Given the description of an element on the screen output the (x, y) to click on. 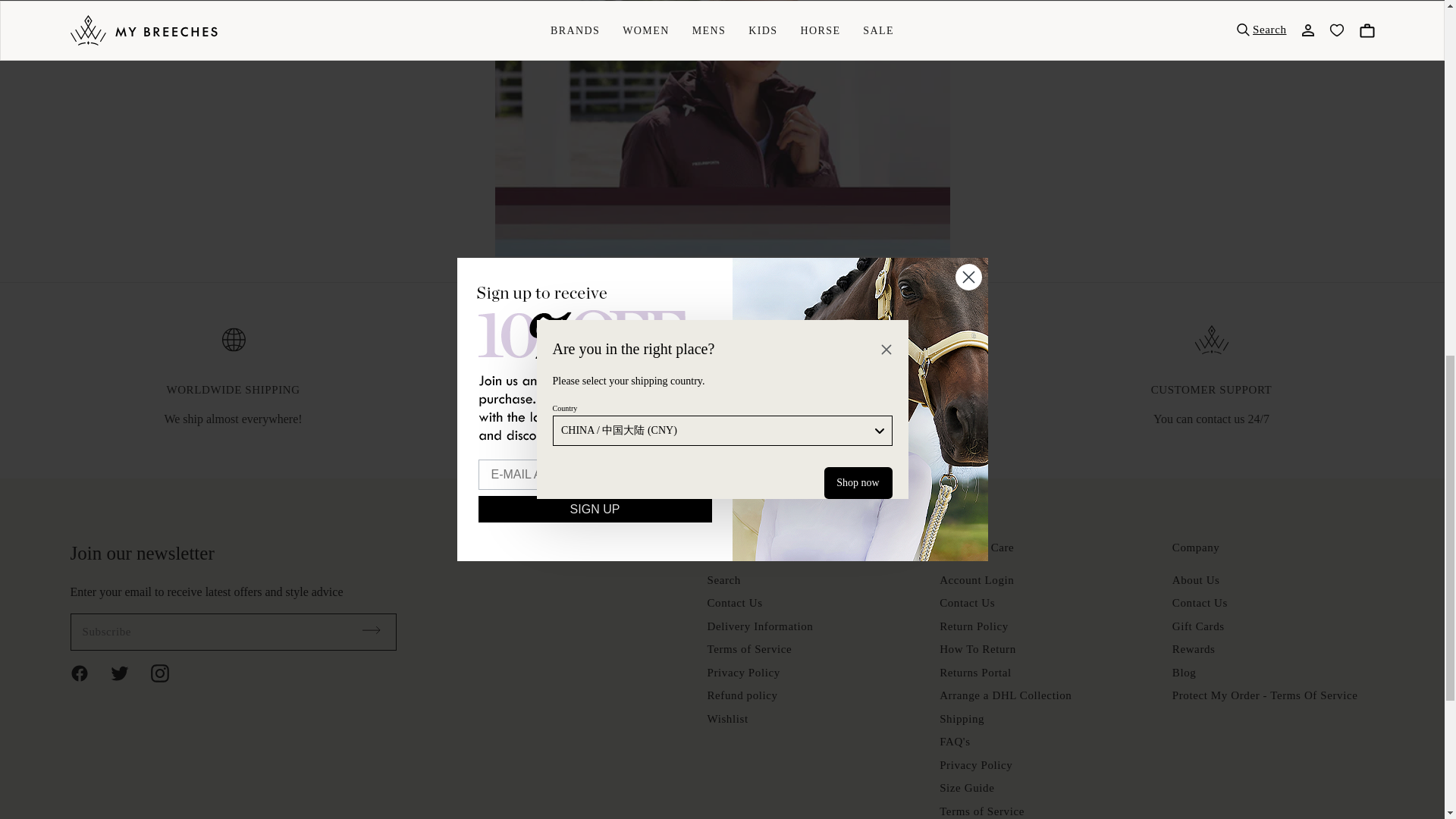
My Breeches on Twitter (129, 671)
My Breeches on Instagram (168, 671)
My Breeches on Facebook (87, 671)
